Given the description of an element on the screen output the (x, y) to click on. 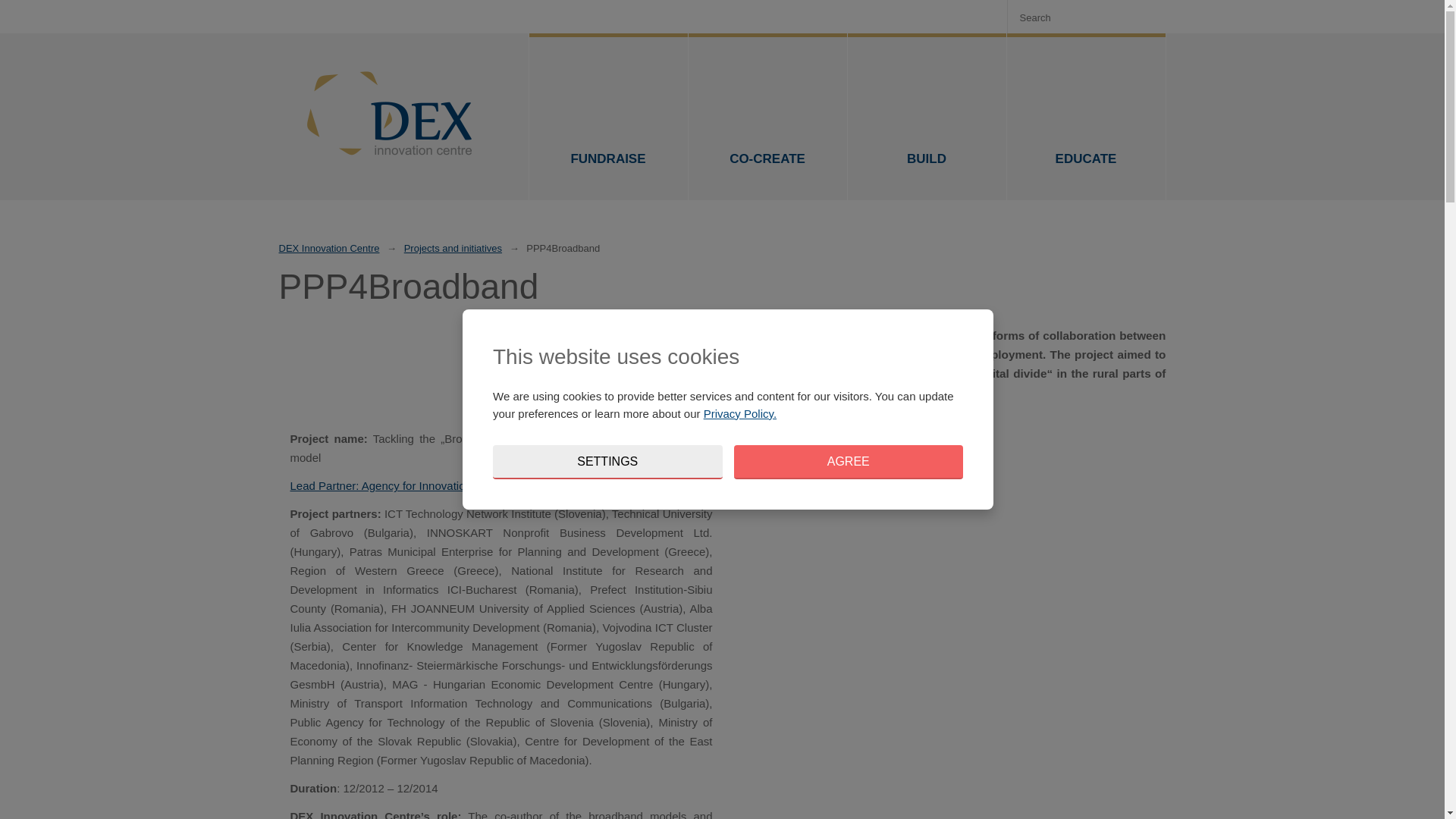
Projects and initiatives (453, 248)
DEX Innovation Centre (329, 248)
Educate (1086, 116)
CO-CREATE (767, 116)
Search (1146, 16)
Fundraise (608, 116)
Co-create (767, 116)
EDUCATE (1086, 116)
Build (926, 116)
BUILD (926, 116)
